Given the description of an element on the screen output the (x, y) to click on. 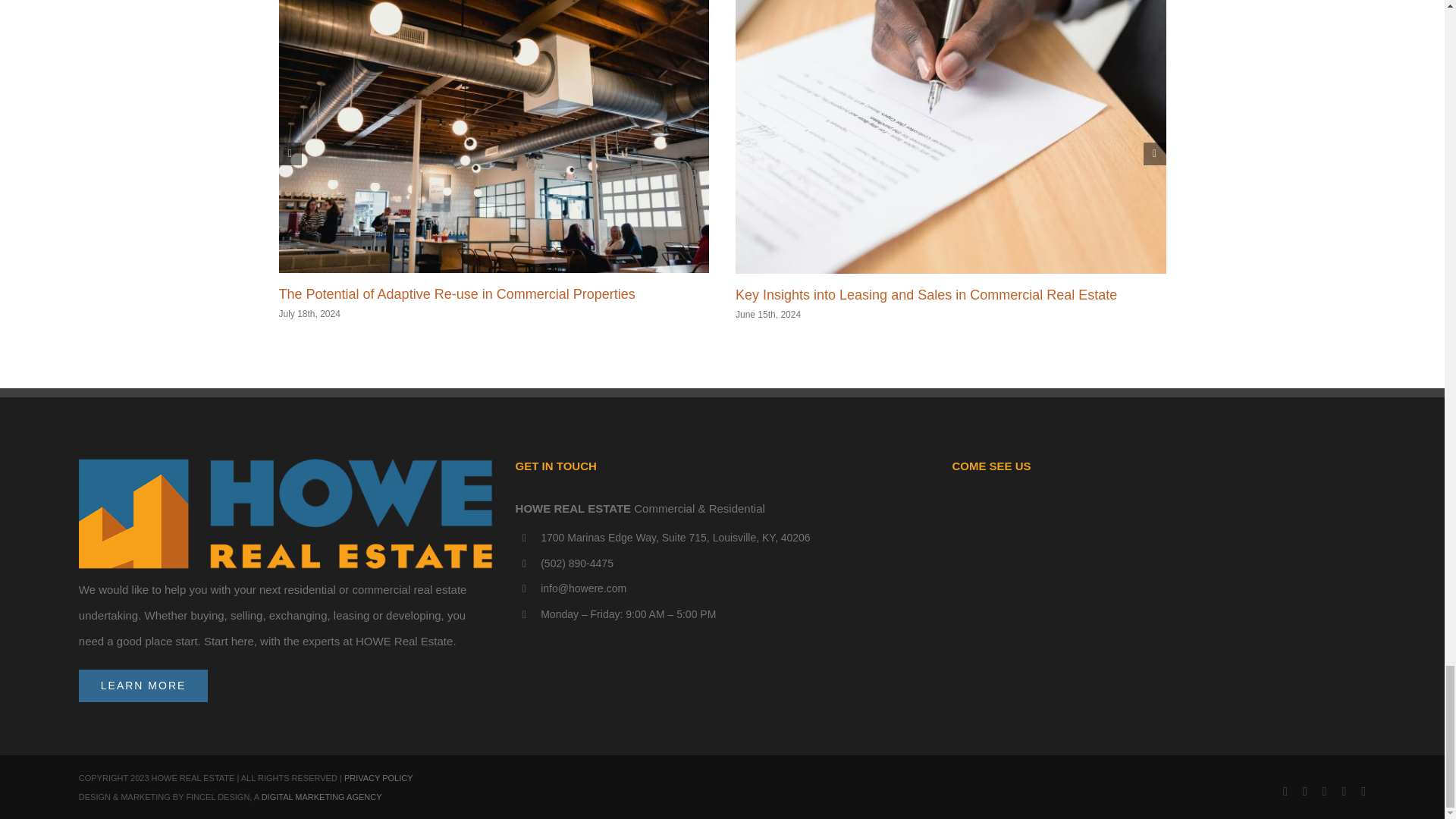
The Potential of Adaptive Re-use in Commercial Properties (456, 294)
The Potential of Adaptive Re-use in Commercial Properties (456, 294)
